Given the description of an element on the screen output the (x, y) to click on. 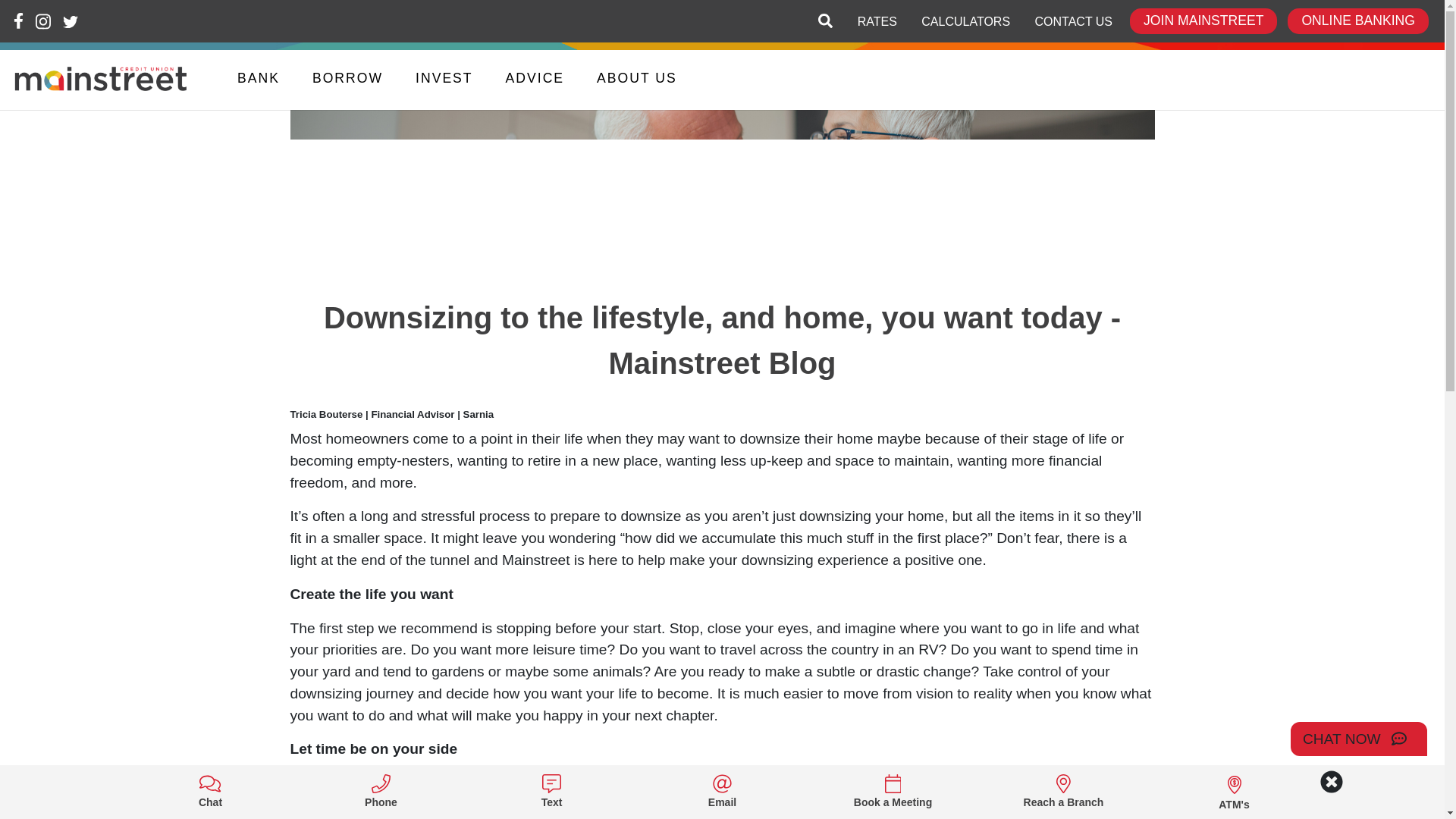
CONTACT US (1074, 21)
CALCULATORS (965, 21)
RATES (877, 21)
JOIN MAINSTREET (1202, 21)
ONLINE BANKING (1357, 21)
